Given the description of an element on the screen output the (x, y) to click on. 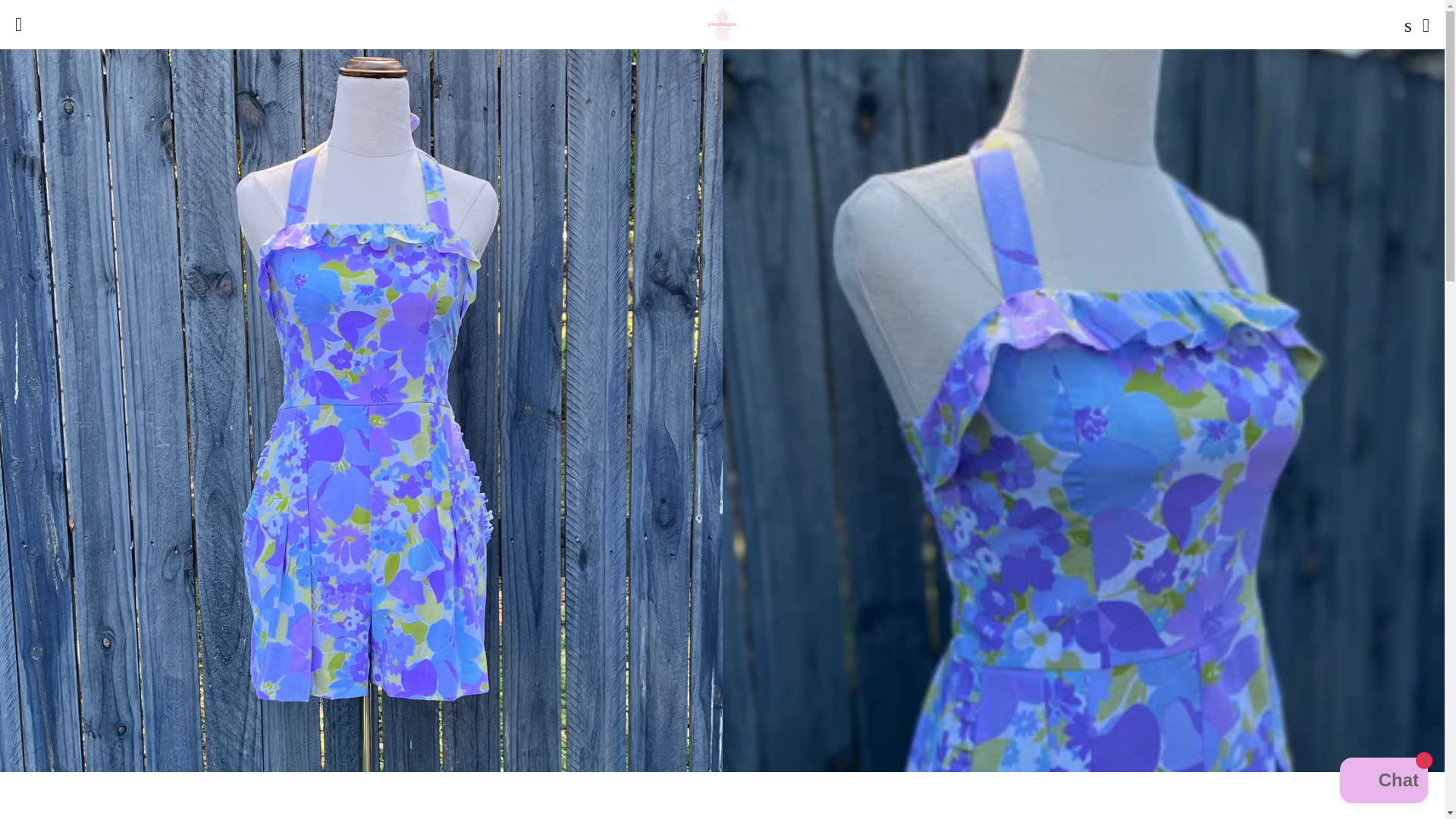
Cart (1426, 23)
Shopify online store chat (1383, 781)
Menu (18, 24)
Search (1404, 23)
